Given the description of an element on the screen output the (x, y) to click on. 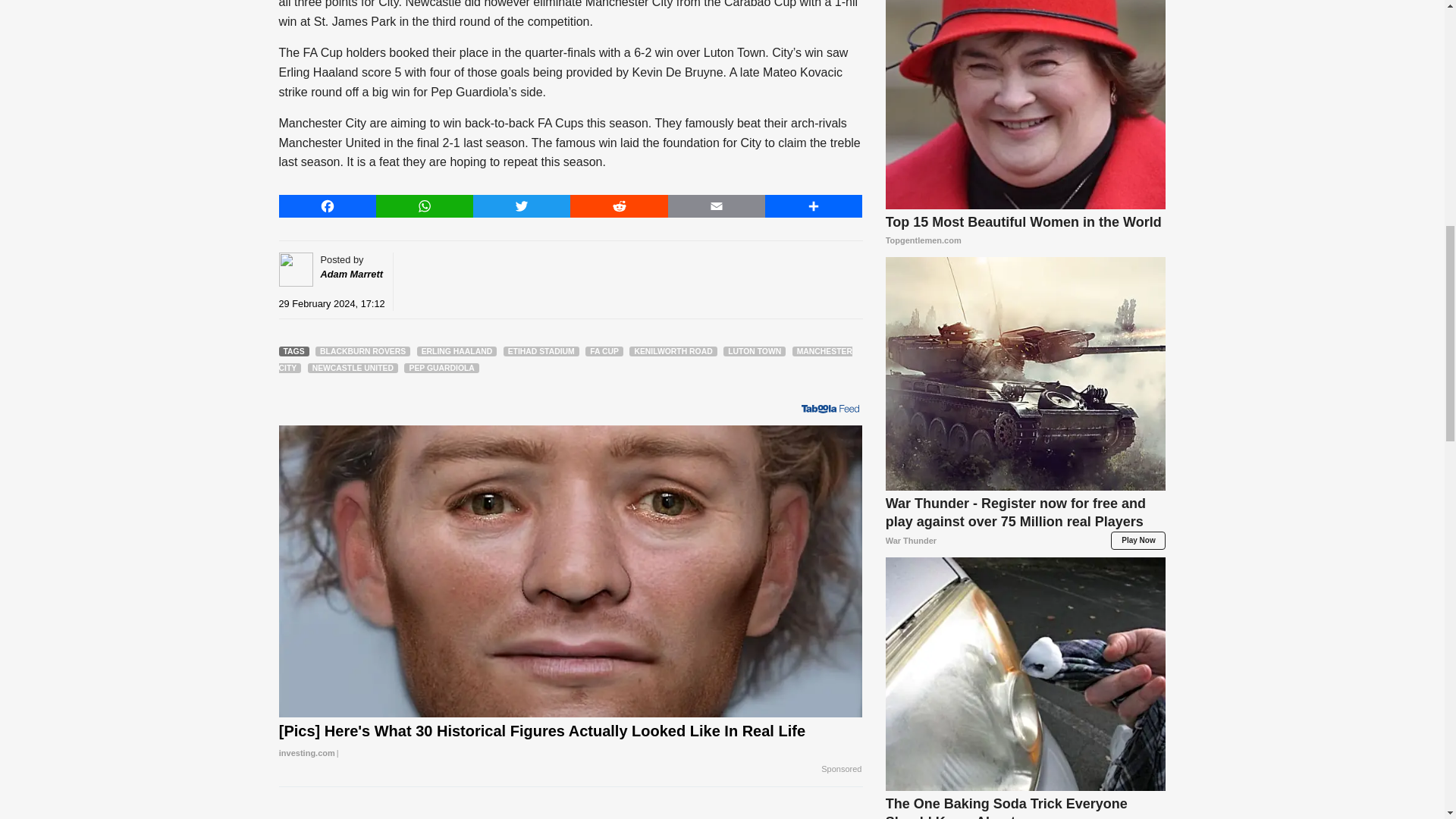
Facebook (327, 205)
WhatsApp (424, 205)
